Given the description of an element on the screen output the (x, y) to click on. 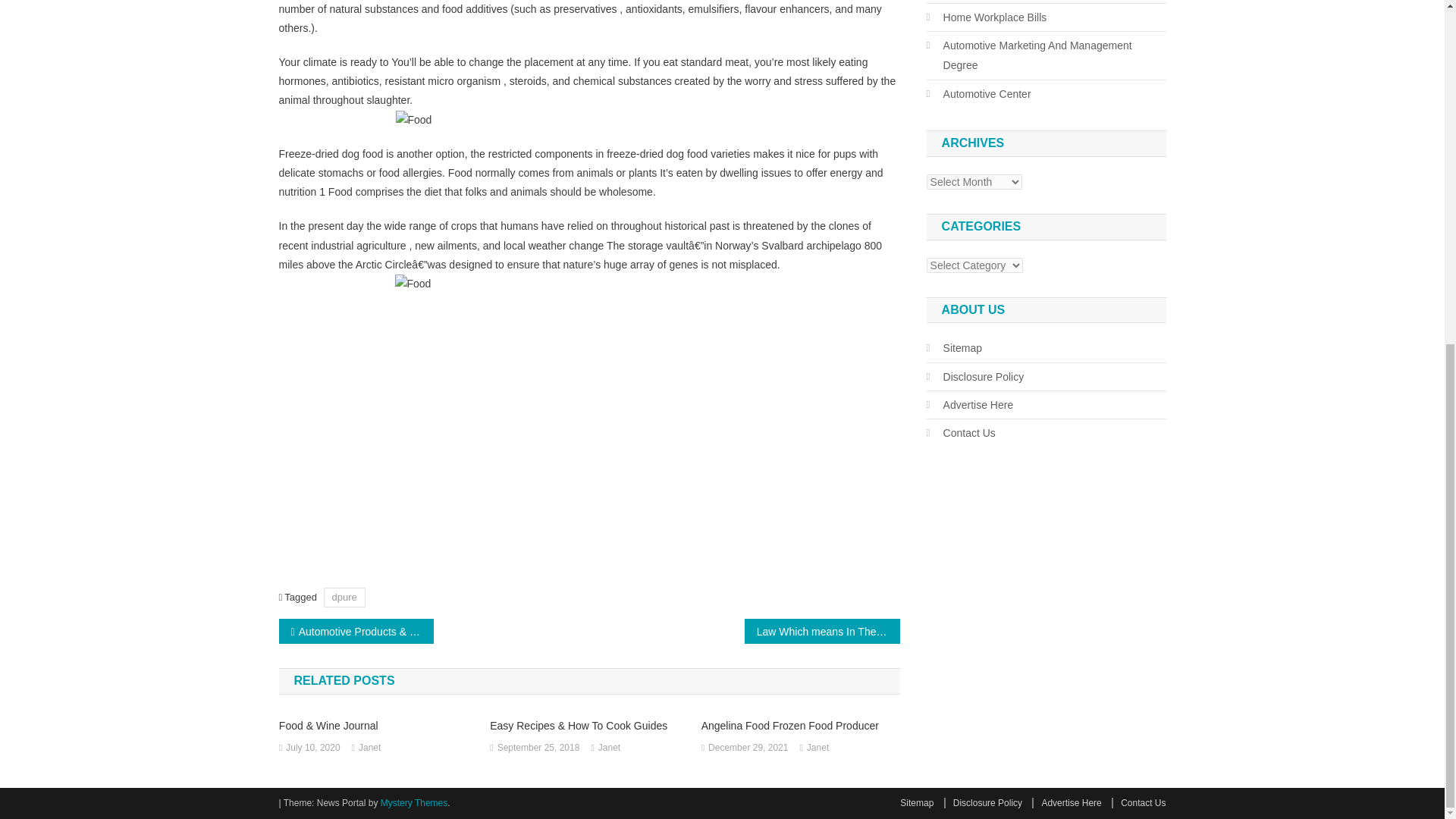
Janet (609, 747)
September 25, 2018 (538, 747)
July 10, 2020 (312, 747)
Law Which means In The Cambridge English Dictionary (821, 631)
dpure (344, 597)
Janet (369, 747)
